Given the description of an element on the screen output the (x, y) to click on. 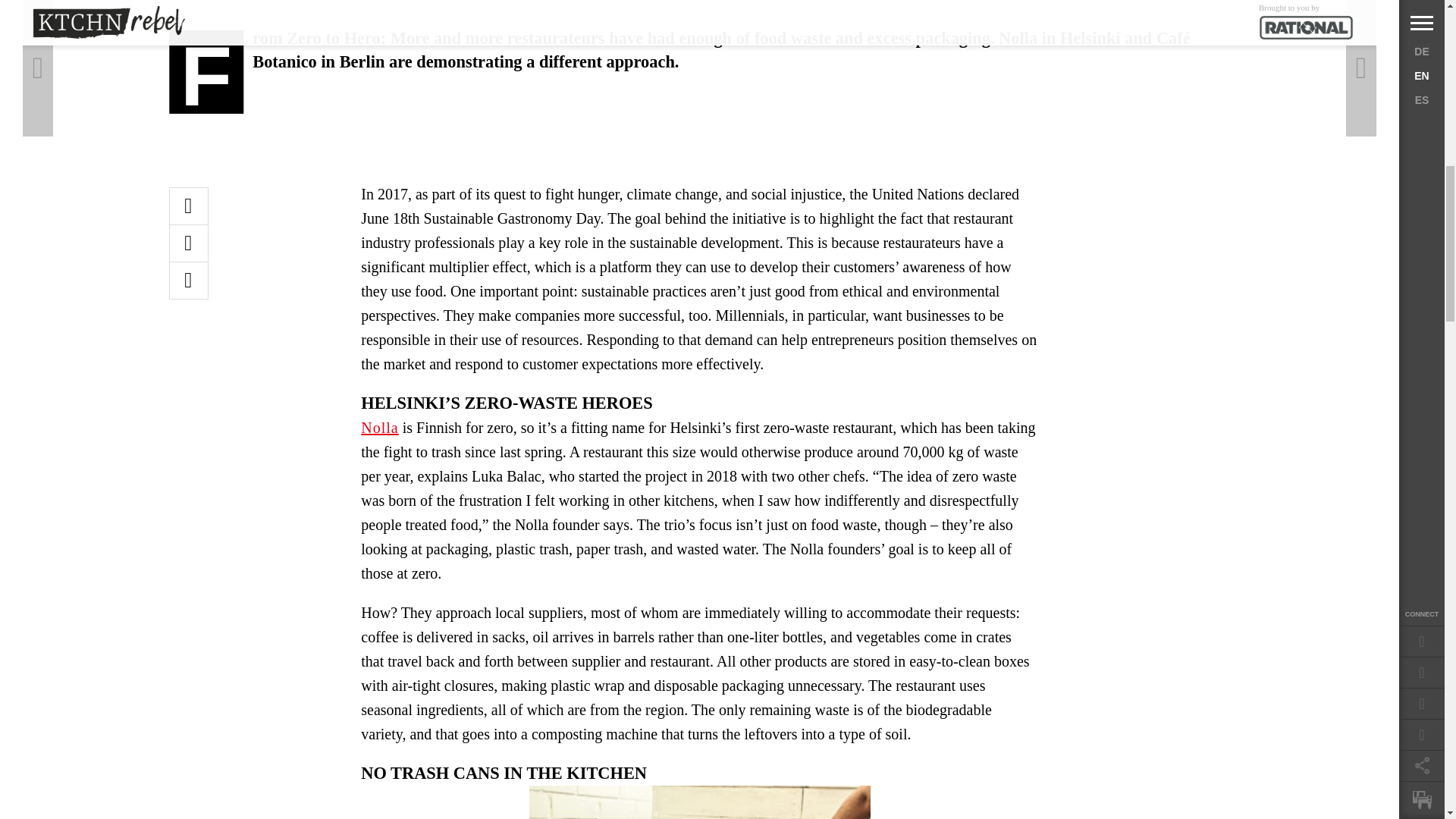
Nolla (379, 427)
